Given the description of an element on the screen output the (x, y) to click on. 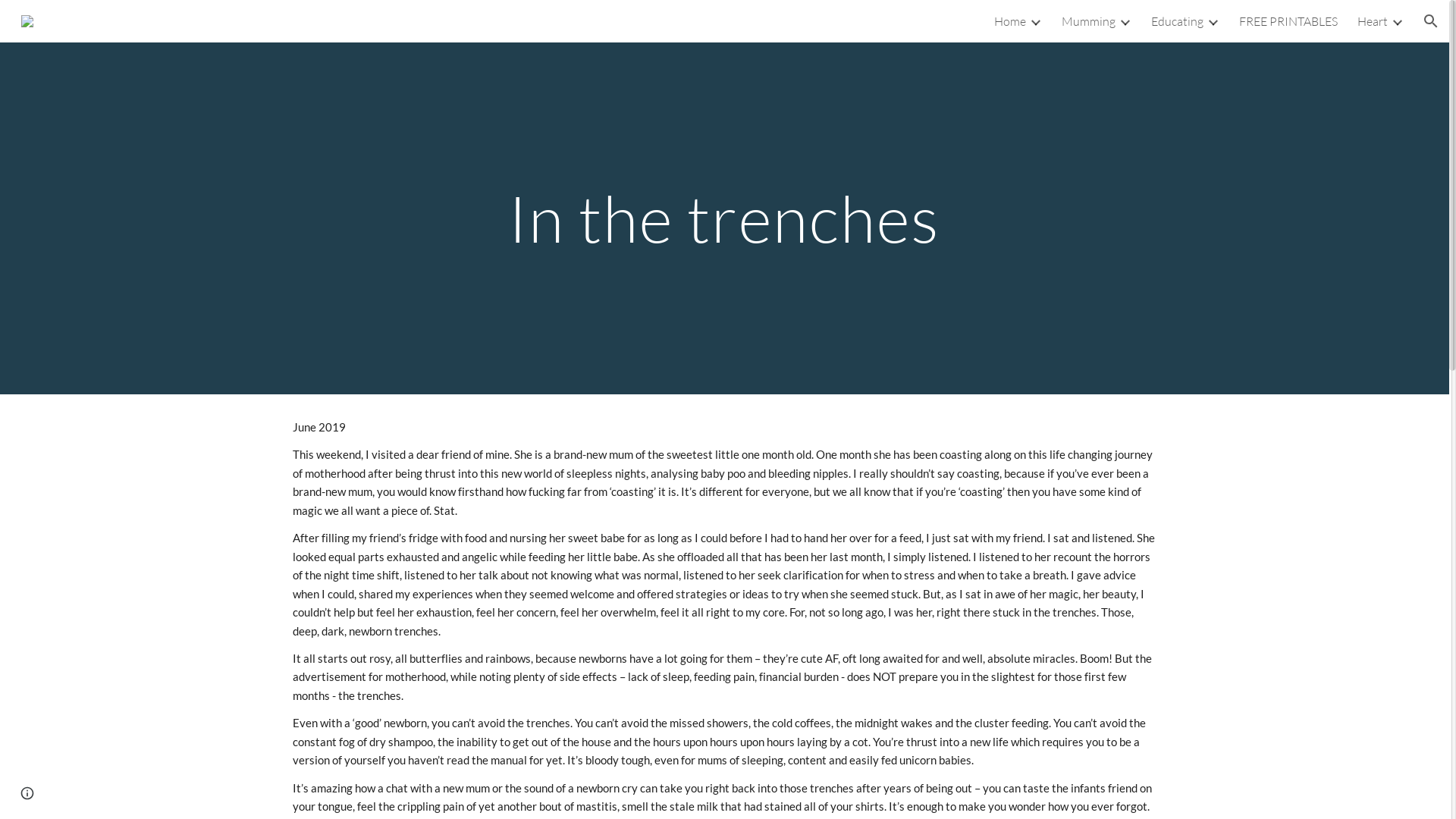
Educating Element type: text (1177, 20)
Expand/Collapse Element type: hover (1034, 20)
Home Element type: text (1010, 20)
Expand/Collapse Element type: hover (1396, 20)
Expand/Collapse Element type: hover (1212, 20)
FREE PRINTABLES Element type: text (1288, 20)
Mumming Element type: text (1088, 20)
Expand/Collapse Element type: hover (1124, 20)
Heart Element type: text (1372, 20)
